Given the description of an element on the screen output the (x, y) to click on. 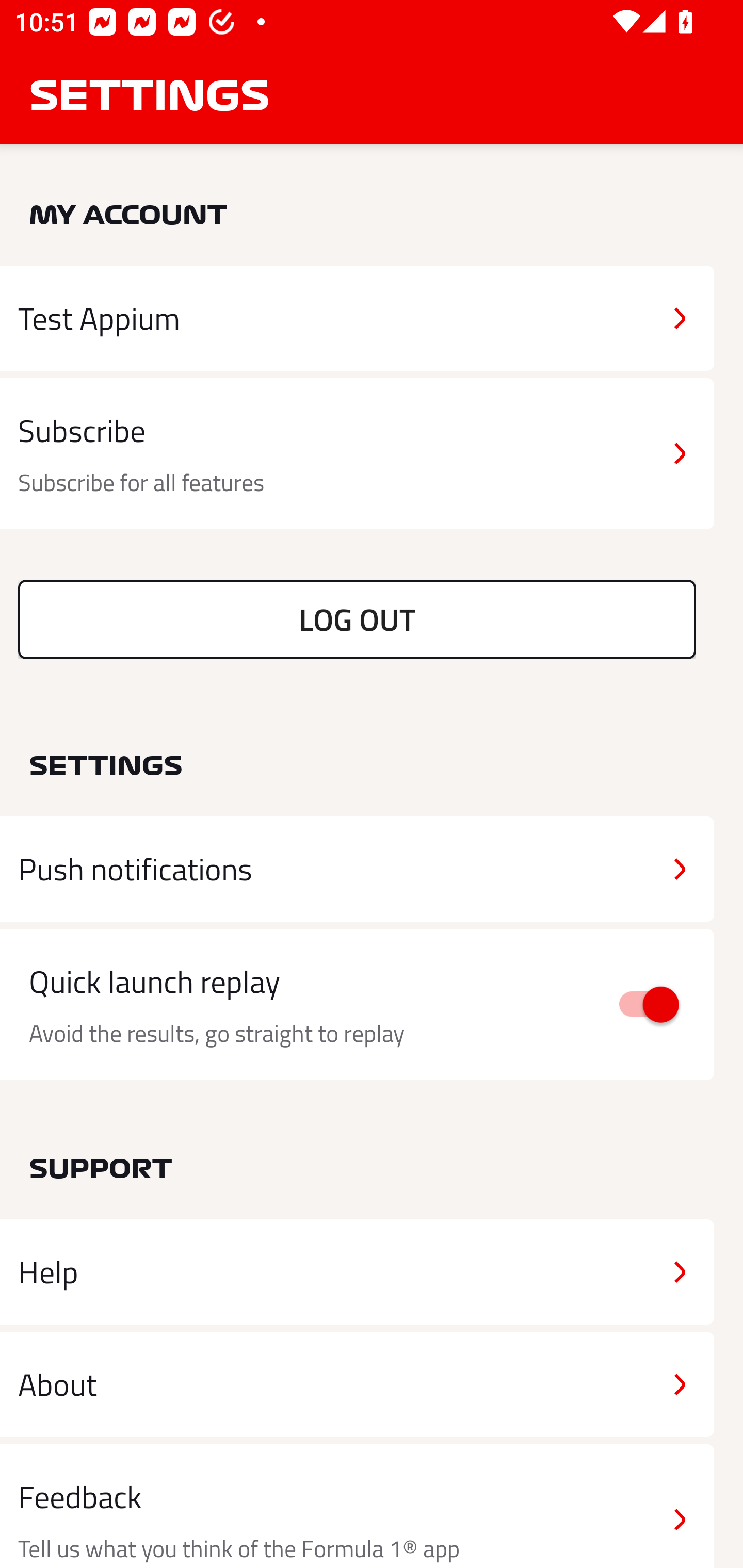
Test Appium (357, 317)
Subscribe Subscribe for all features (357, 453)
LOG OUT (356, 619)
Push notifications (357, 868)
Help (357, 1271)
About (357, 1383)
